Given the description of an element on the screen output the (x, y) to click on. 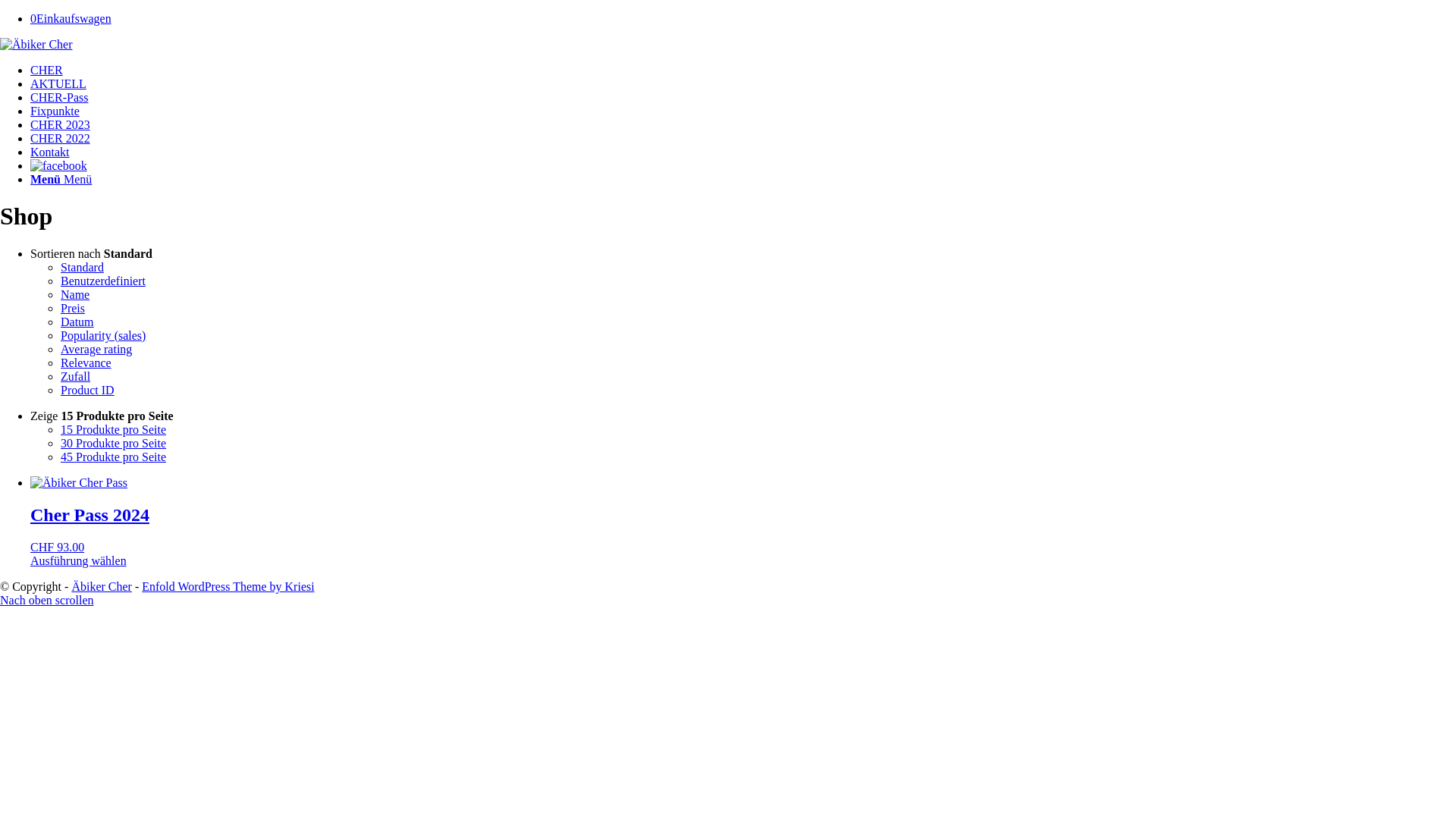
CHER-Pass Element type: text (58, 97)
Standard Element type: text (81, 266)
Product ID Element type: text (87, 389)
CHER 2023 Element type: text (60, 124)
Popularity (sales) Element type: text (102, 335)
Relevance Element type: text (85, 362)
Preis Element type: text (72, 307)
Enfold WordPress Theme by Kriesi Element type: text (227, 586)
AKTUELL Element type: text (58, 83)
0Einkaufswagen Element type: text (70, 18)
Datum Element type: text (77, 321)
Average rating Element type: text (95, 348)
Zufall Element type: text (75, 376)
Nach oben scrollen Element type: text (47, 599)
Fixpunkte Element type: text (54, 110)
30 Produkte pro Seite Element type: text (113, 442)
15 Produkte pro Seite Element type: text (113, 429)
45 Produkte pro Seite Element type: text (113, 456)
CHER Element type: text (46, 69)
ach-logo-wanderer-rot-256-tinyfied Element type: hover (36, 44)
Benutzerdefiniert Element type: text (102, 280)
Name Element type: text (74, 294)
Kontakt Element type: text (49, 151)
CHER 2022 Element type: text (60, 137)
